Given the description of an element on the screen output the (x, y) to click on. 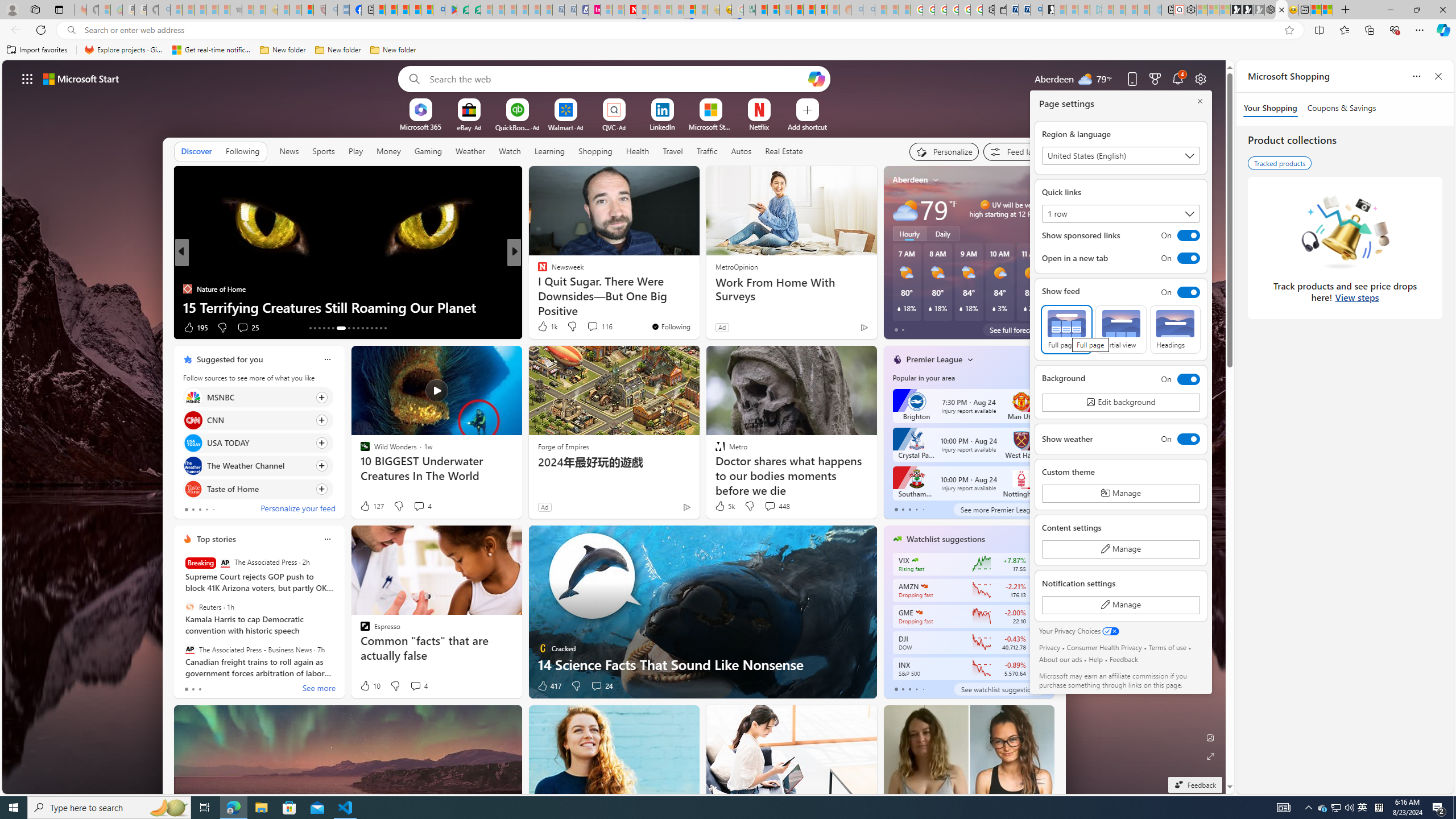
658 Like (545, 327)
Learning (549, 151)
How To Disable OneDrive On Windows (697, 307)
Cheap Car Rentals - Save70.com (1024, 9)
View comments 25 Comment (241, 327)
Aberdeen (910, 179)
Microsoft account | Privacy - Sleeping (1083, 9)
